Given the description of an element on the screen output the (x, y) to click on. 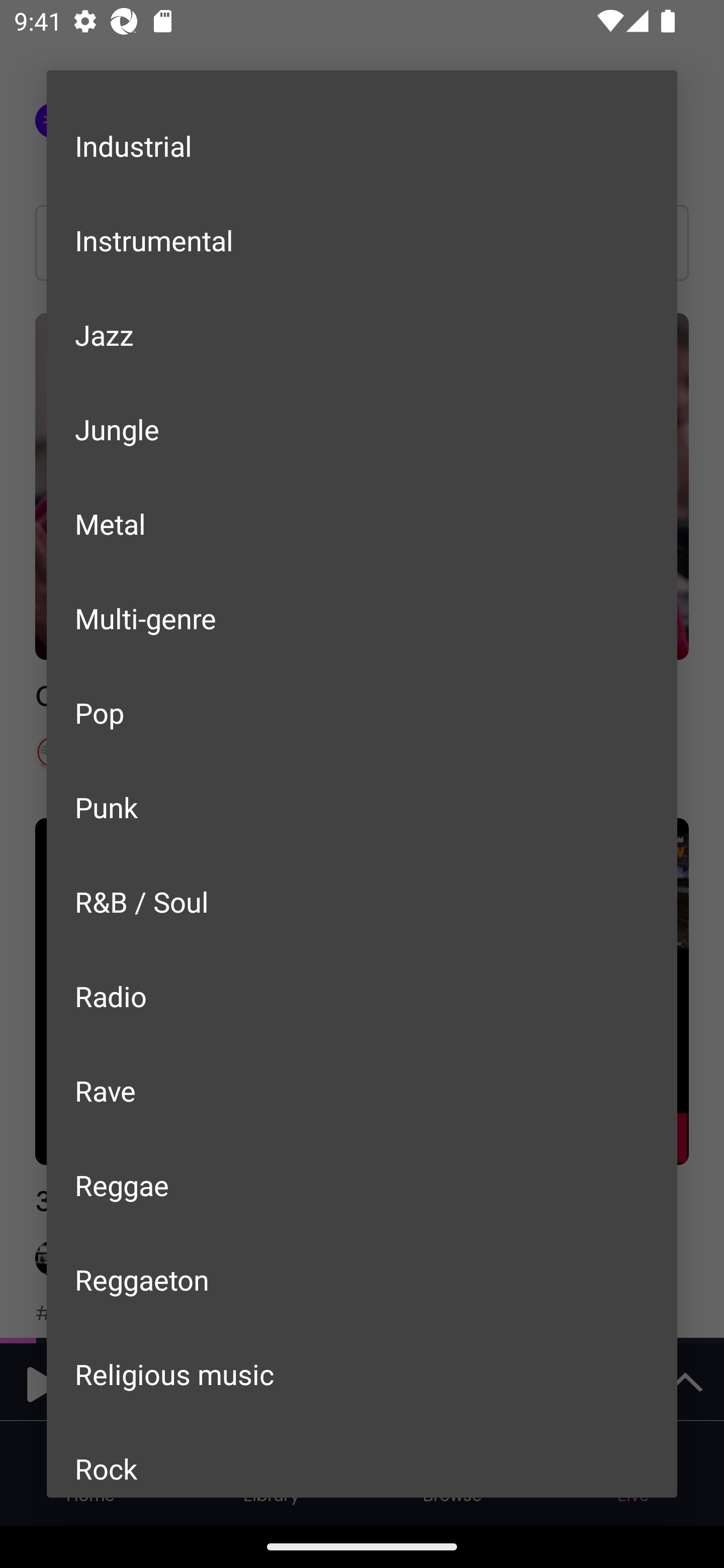
Industrial (361, 145)
Instrumental (361, 239)
Jazz (361, 334)
Jungle (361, 429)
Metal (361, 523)
Multi-genre (361, 617)
Pop (361, 712)
Punk (361, 807)
R&B / Soul (361, 901)
Radio (361, 995)
Rave (361, 1090)
Reggae (361, 1185)
Reggaeton (361, 1279)
Religious music (361, 1373)
Rock (361, 1458)
